Given the description of an element on the screen output the (x, y) to click on. 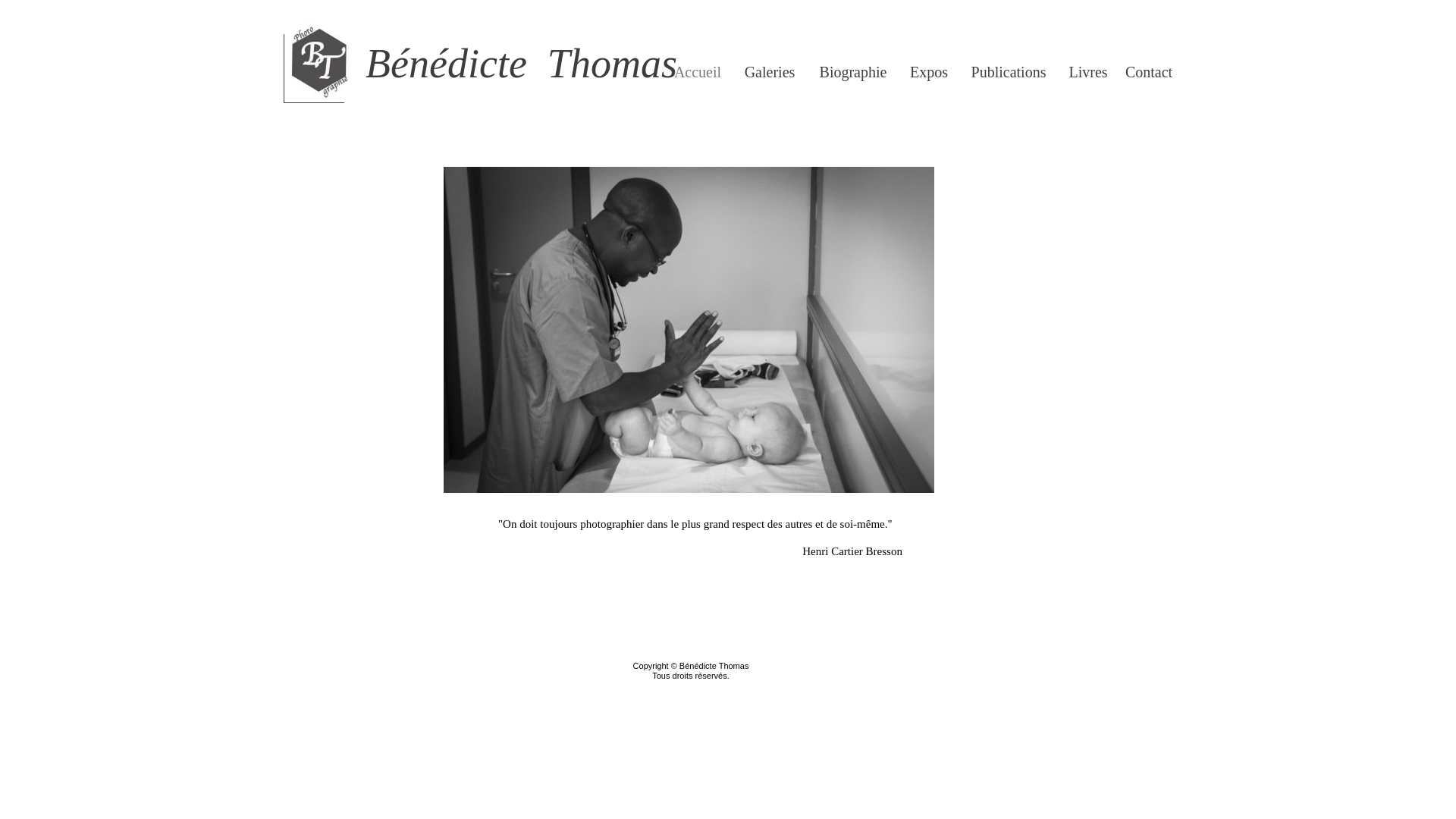
Livres Element type: text (1087, 71)
Publications Element type: text (1008, 71)
Accueil Element type: text (697, 71)
  Element type: text (274, 680)
Accueil Element type: text (697, 71)
Expos Element type: text (928, 71)
Expos Element type: text (928, 71)
Biographie Element type: text (852, 71)
Contact Element type: text (1148, 71)
Contact Element type: text (1148, 71)
  Element type: text (274, 6)
Publications Element type: text (1008, 71)
Galeries Element type: text (769, 71)
Biographie Element type: text (853, 71)
Galeries Element type: text (769, 71)
Livres Element type: text (1087, 71)
